Given the description of an element on the screen output the (x, y) to click on. 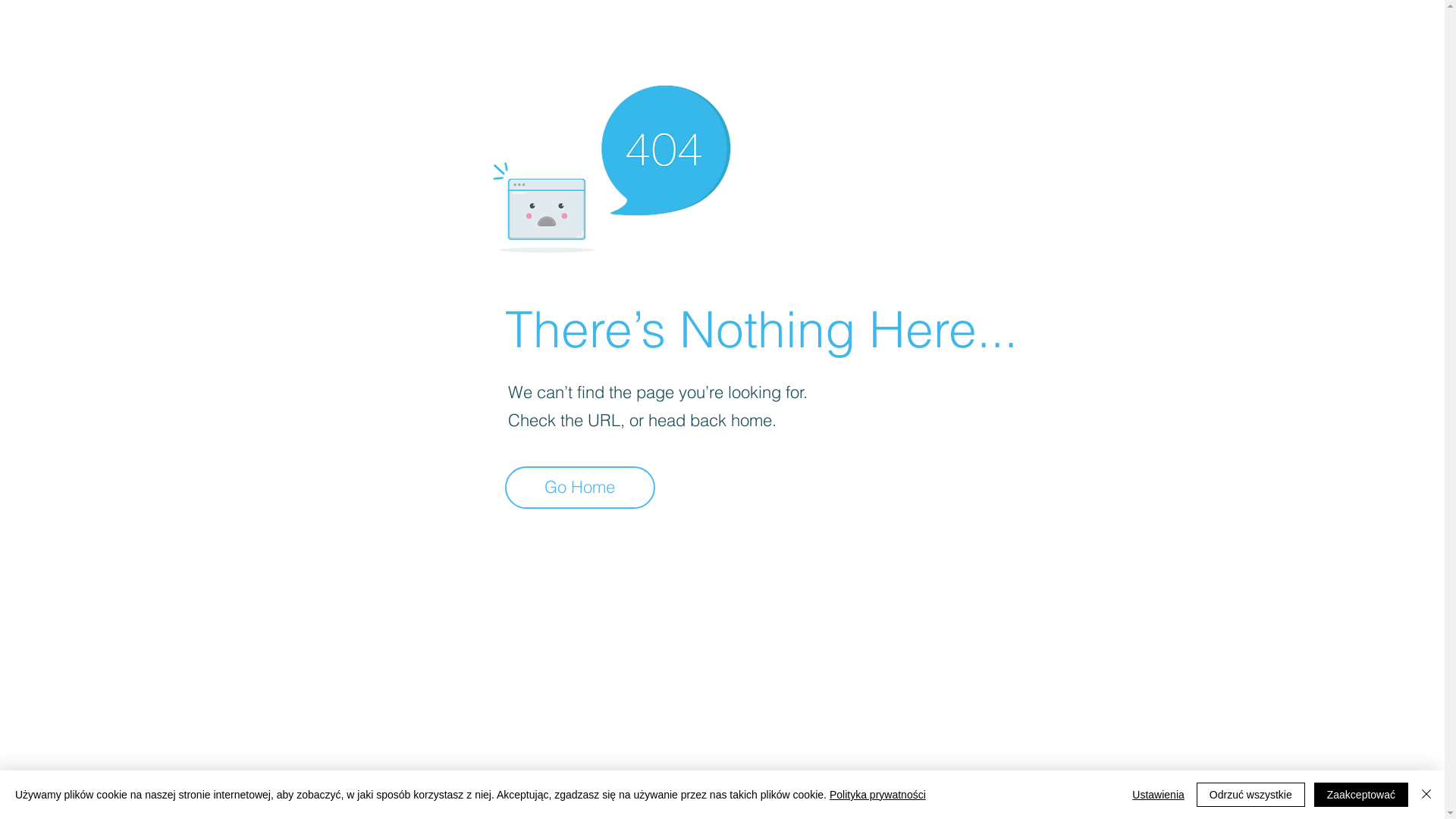
404-icon_2.png Element type: hover (610, 164)
Go Home Element type: text (580, 487)
